Given the description of an element on the screen output the (x, y) to click on. 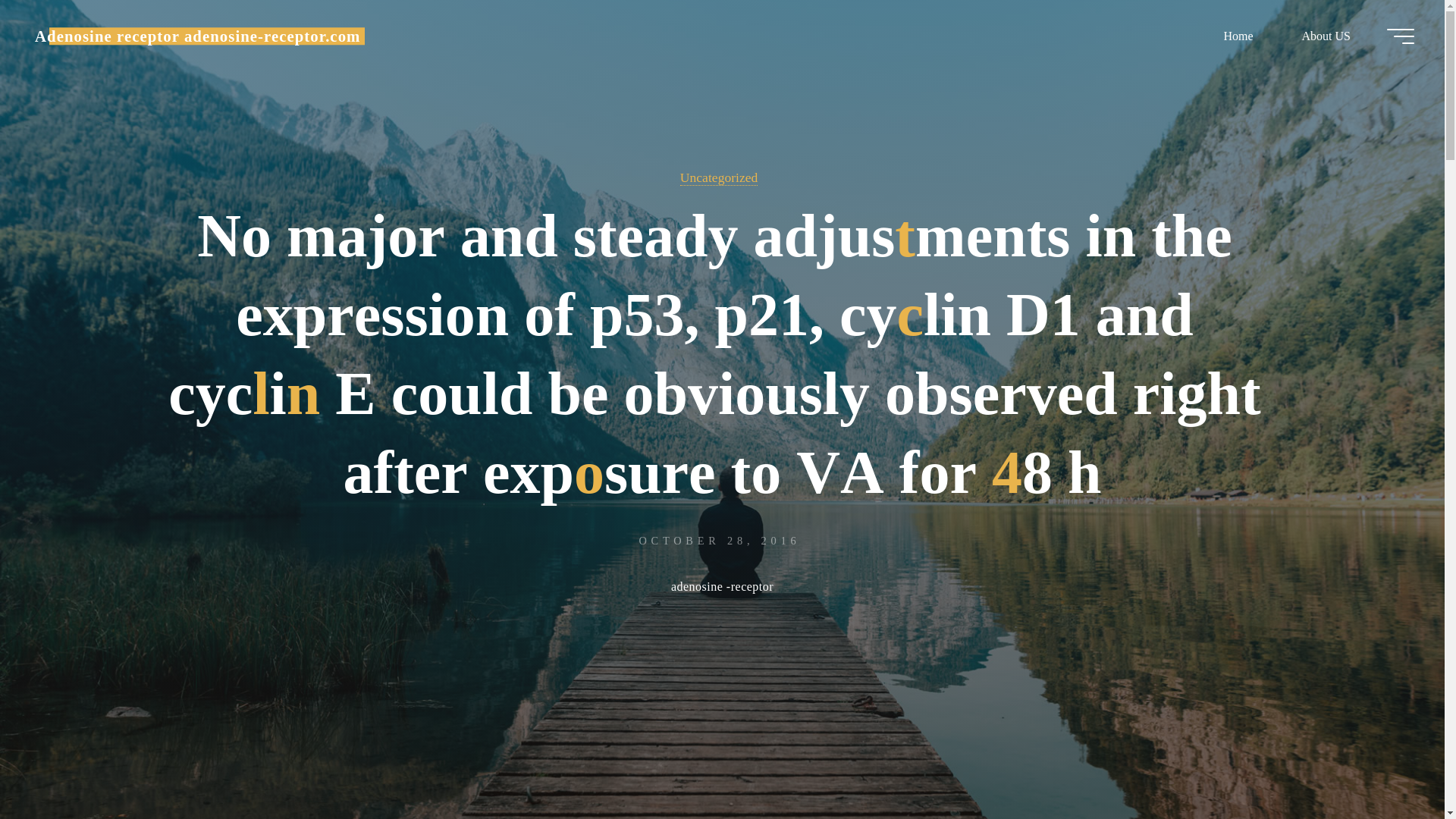
About US (1326, 35)
Just another WordPress site (197, 36)
Home (1237, 35)
Adenosine receptor adenosine-receptor.com (197, 36)
adenosine -receptor (722, 588)
View all posts by adenosine -receptor (722, 588)
Uncategorized (718, 177)
Read more (721, 724)
